Given the description of an element on the screen output the (x, y) to click on. 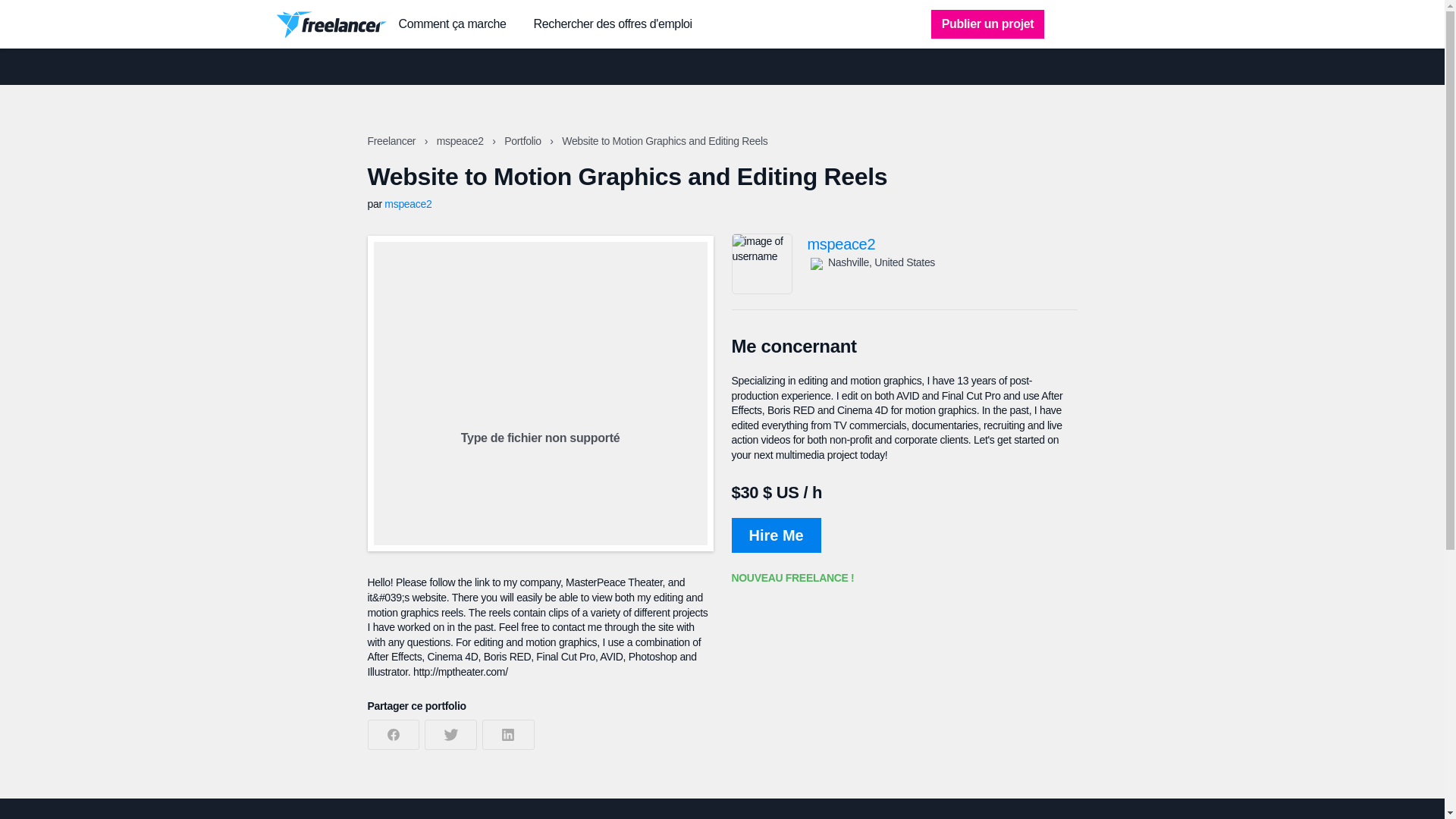
mspeace2 (461, 141)
Publier un projet (988, 23)
Partager sur Twitter (450, 734)
Freelancer (391, 141)
Partager sur Facebook (392, 734)
mspeace2 (941, 243)
Rechercher des offres d'emploi (613, 24)
Partager sur LinkedIn (507, 734)
Hire Me (775, 534)
mspeace2 (407, 203)
